Given the description of an element on the screen output the (x, y) to click on. 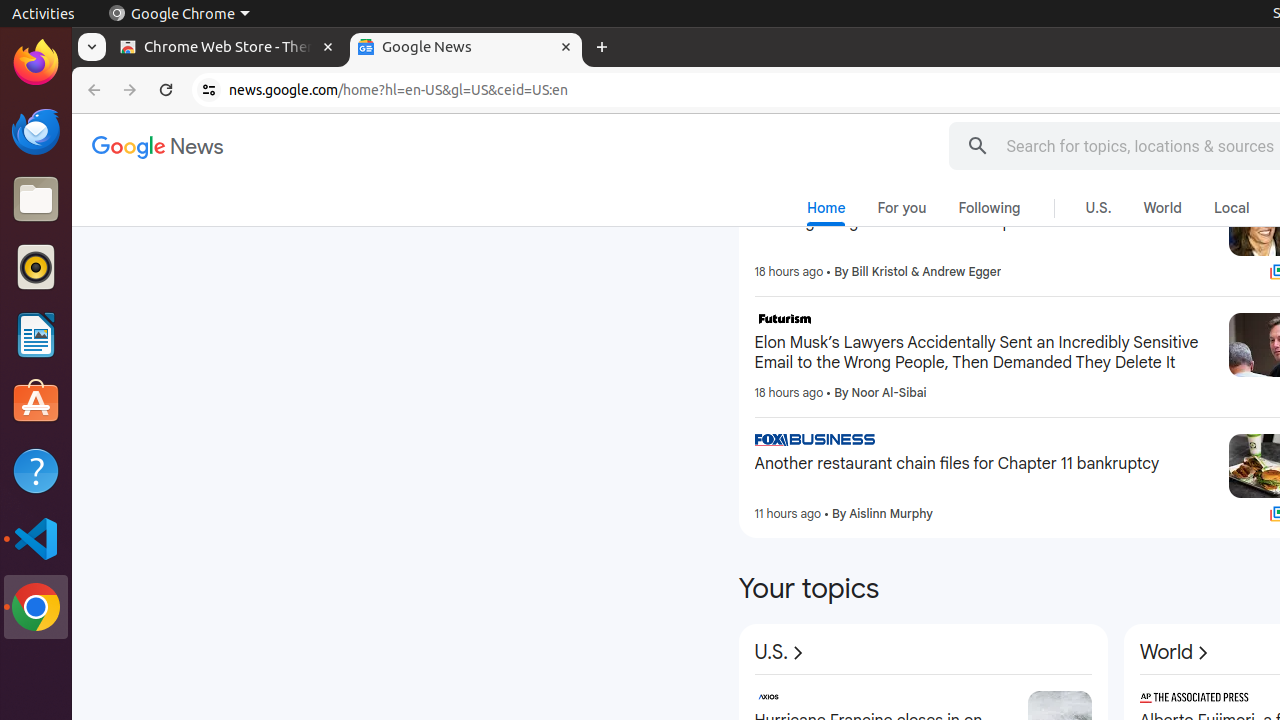
Visual Studio Code Element type: push-button (36, 538)
New Tab Element type: push-button (602, 47)
Back Element type: push-button (91, 90)
Local Element type: menu-item (1231, 208)
Reload Element type: push-button (166, 90)
